Given the description of an element on the screen output the (x, y) to click on. 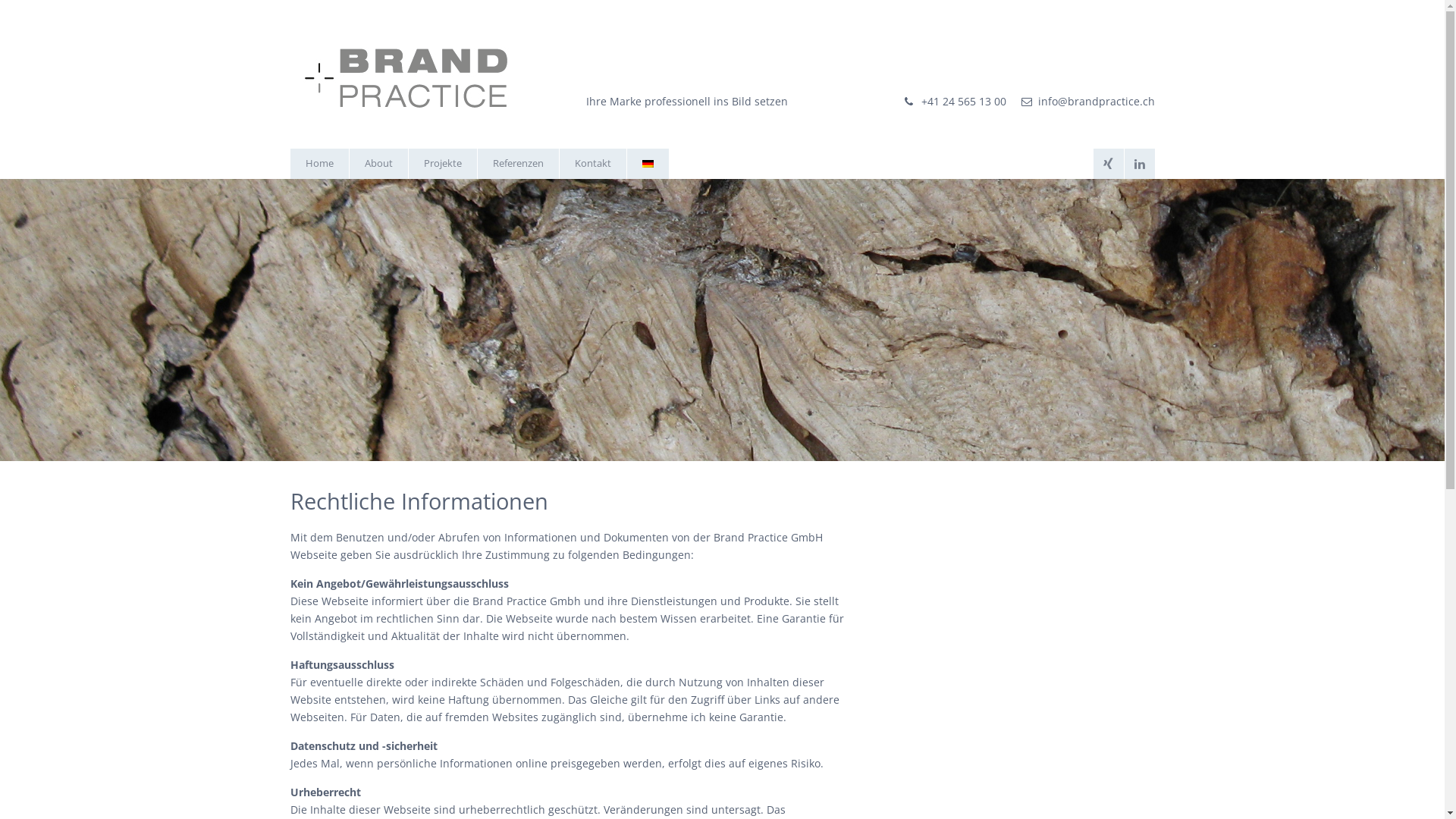
+41 24 565 13 00 Element type: text (962, 101)
Kontakt Element type: text (592, 163)
Referenzen Element type: text (517, 163)
About Element type: text (377, 163)
Home Element type: text (318, 163)
info@brandpractice.ch Element type: text (1095, 101)
Projekte Element type: text (441, 163)
